Given the description of an element on the screen output the (x, y) to click on. 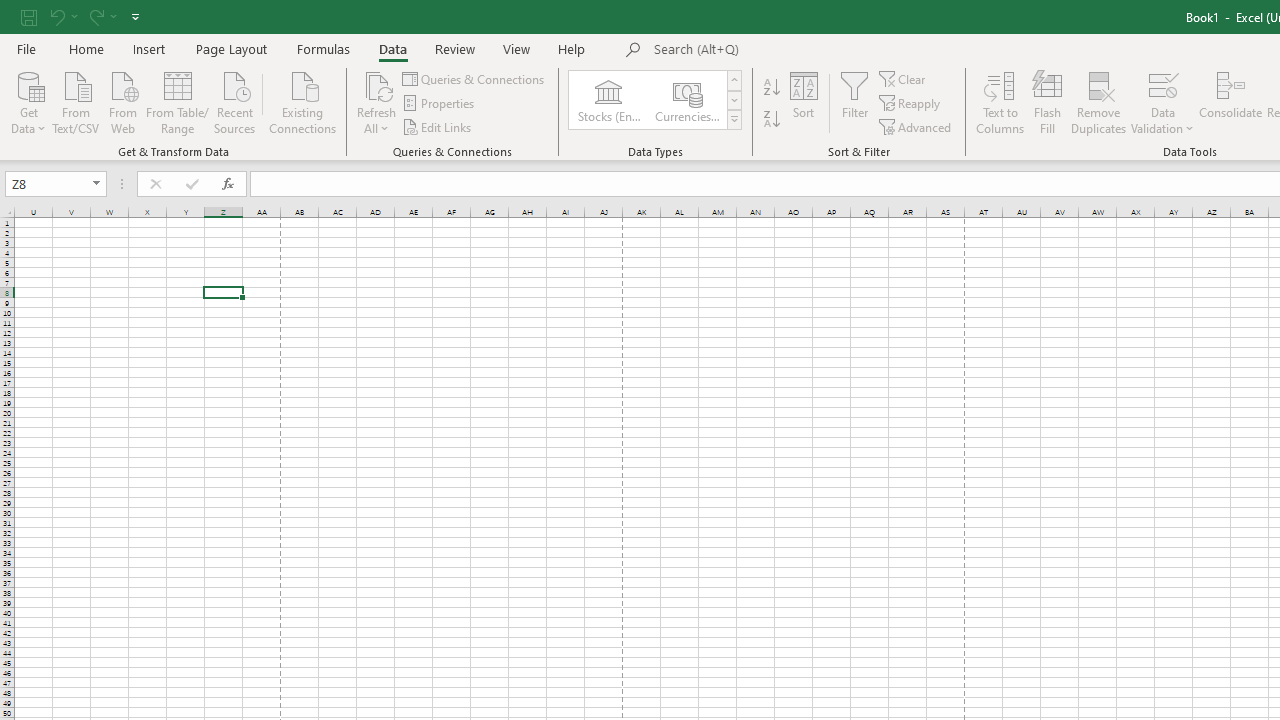
Consolidate... (1230, 102)
Queries & Connections (474, 78)
Quick Access Toolbar (82, 16)
Review (454, 48)
Properties (440, 103)
Text to Columns... (1000, 102)
Stocks (English) (608, 100)
Reapply (911, 103)
Sort... (804, 102)
From Web (122, 101)
View (517, 48)
Data Validation... (1162, 102)
